Given the description of an element on the screen output the (x, y) to click on. 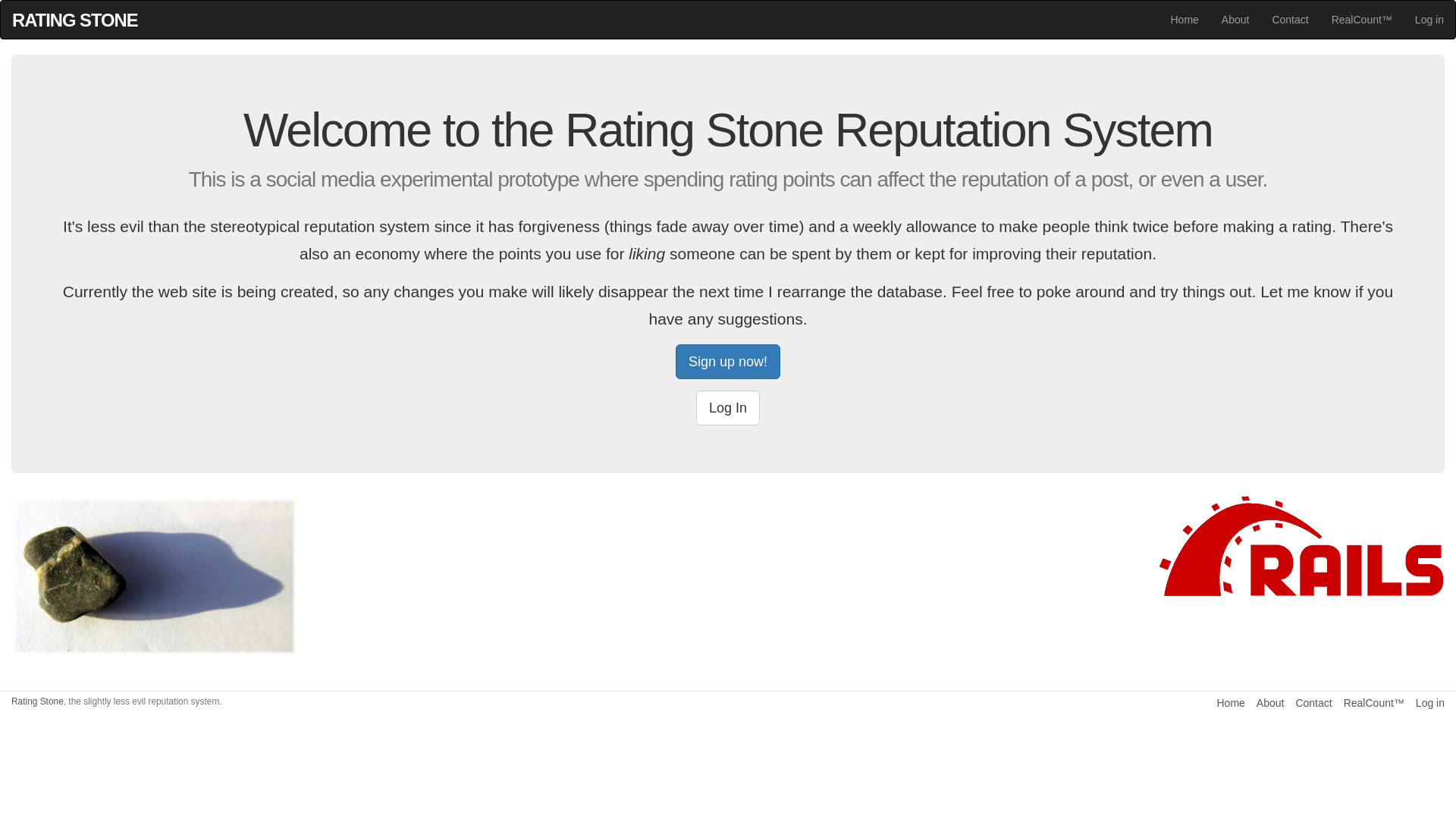
Contact Element type: text (1313, 702)
Log in Element type: text (1429, 702)
About Element type: text (1235, 19)
About Element type: text (1270, 702)
RATING STONE Element type: text (75, 16)
Contact Element type: text (1289, 19)
Log In Element type: text (727, 407)
Sign up now! Element type: text (727, 361)
Home Element type: text (1183, 19)
Log in Element type: text (1429, 19)
Rating Stone Element type: text (37, 701)
Home Element type: text (1230, 702)
